Given the description of an element on the screen output the (x, y) to click on. 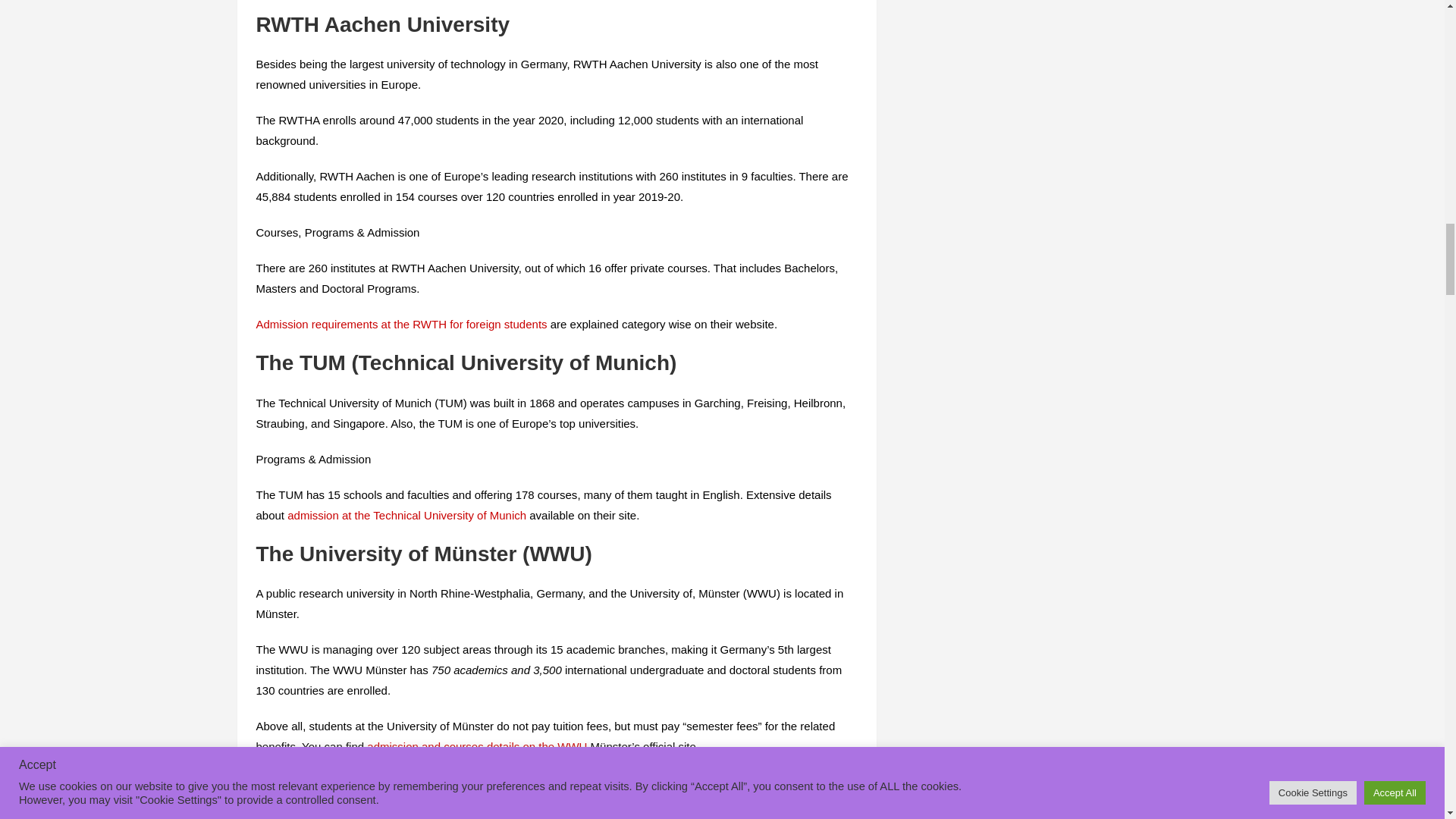
admission at the Technical University of Munich (405, 514)
admission and courses details on the WWU (476, 746)
Admission requirements at the RWTH for foreign students (401, 323)
